Given the description of an element on the screen output the (x, y) to click on. 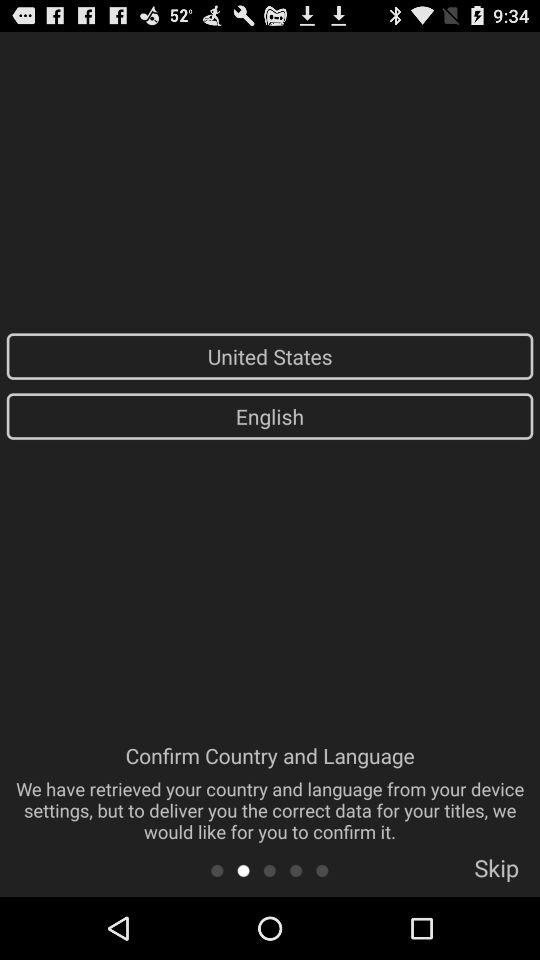
loading meun option (269, 870)
